Given the description of an element on the screen output the (x, y) to click on. 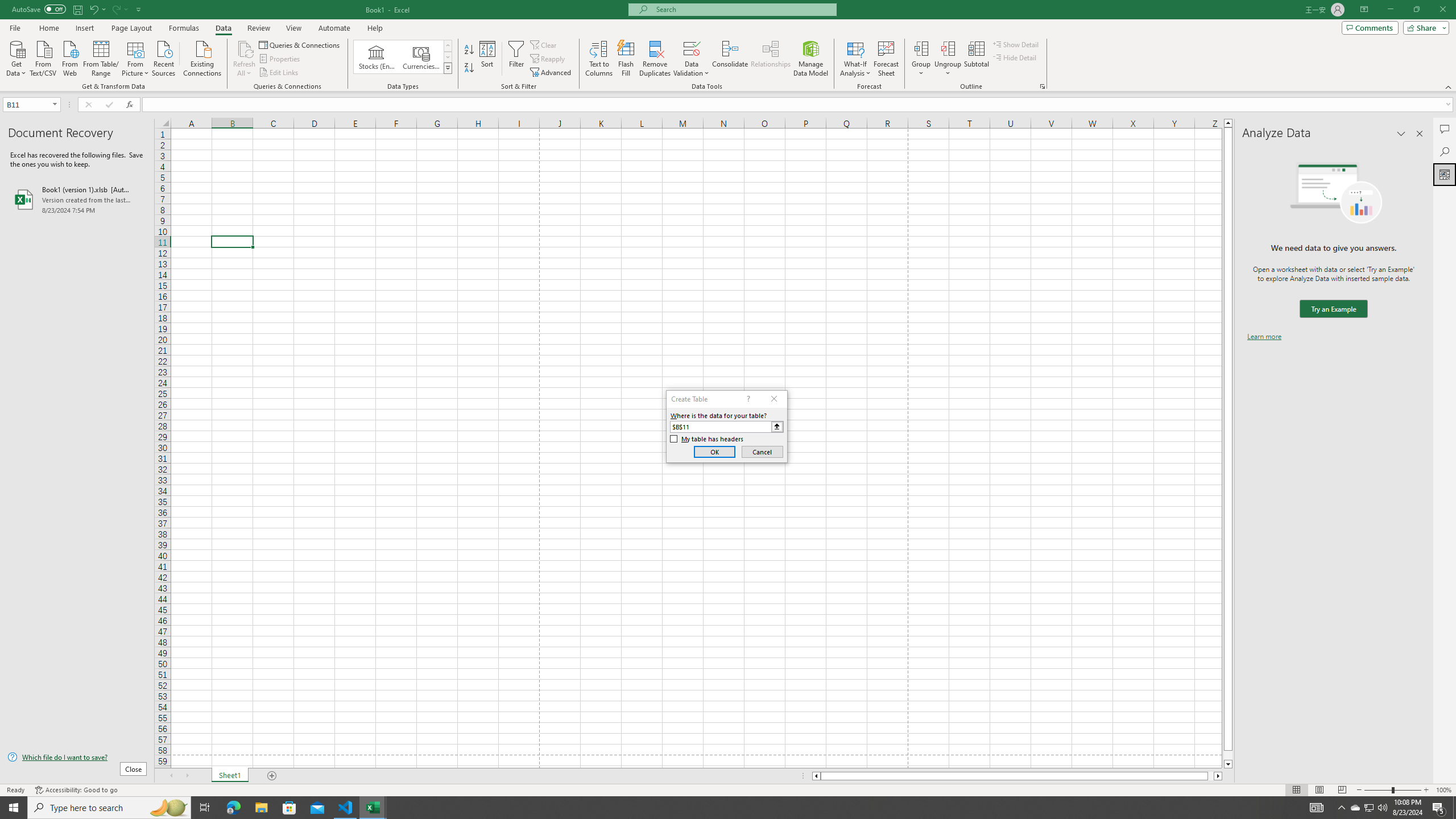
Sort Z to A (469, 67)
Filter (515, 58)
Sort A to Z (469, 49)
Remove Duplicates (654, 58)
